Given the description of an element on the screen output the (x, y) to click on. 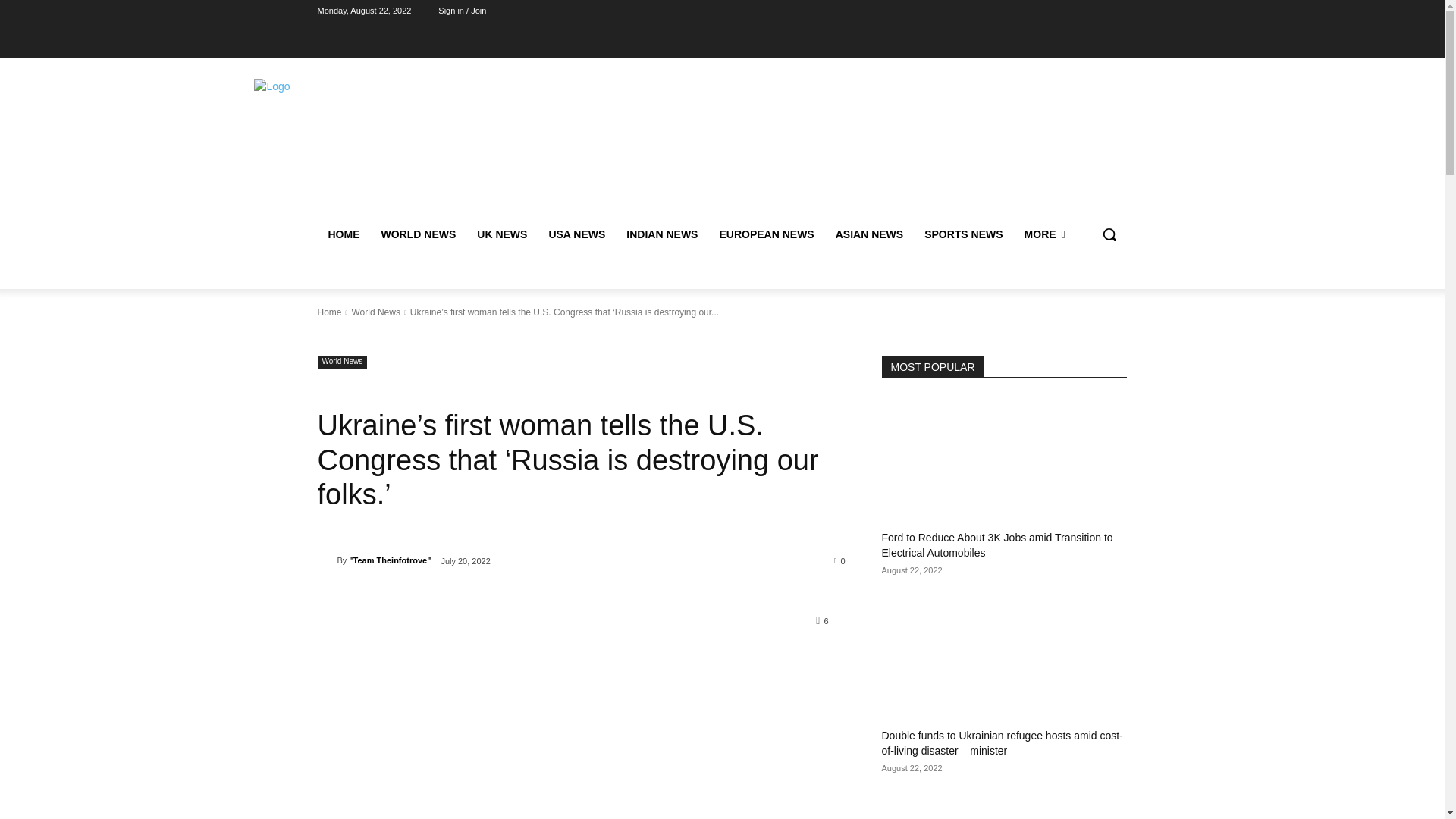
WORLD NEWS (417, 234)
HOME (343, 234)
USA NEWS (576, 234)
View all posts in World News (374, 312)
UK NEWS (501, 234)
